Given the description of an element on the screen output the (x, y) to click on. 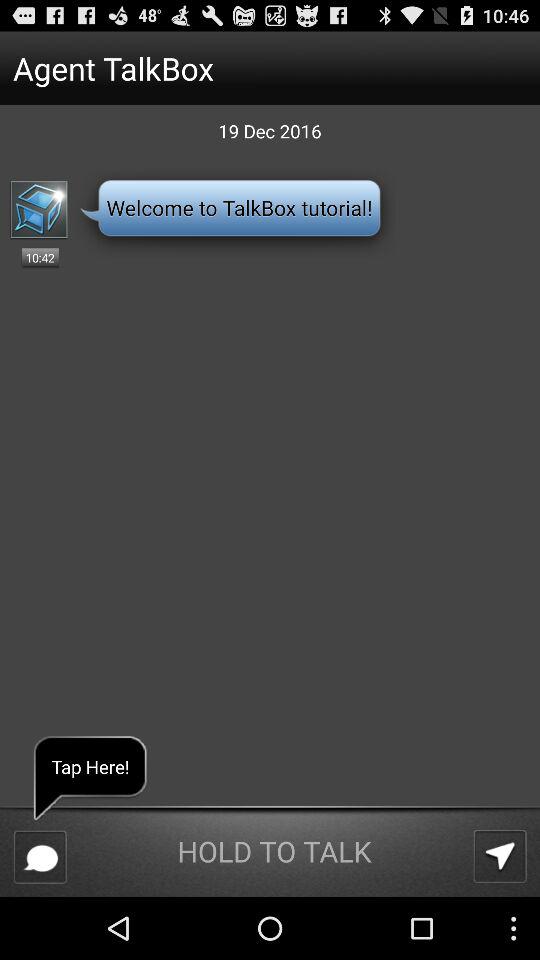
turn off item next to the hold to talk item (40, 856)
